Given the description of an element on the screen output the (x, y) to click on. 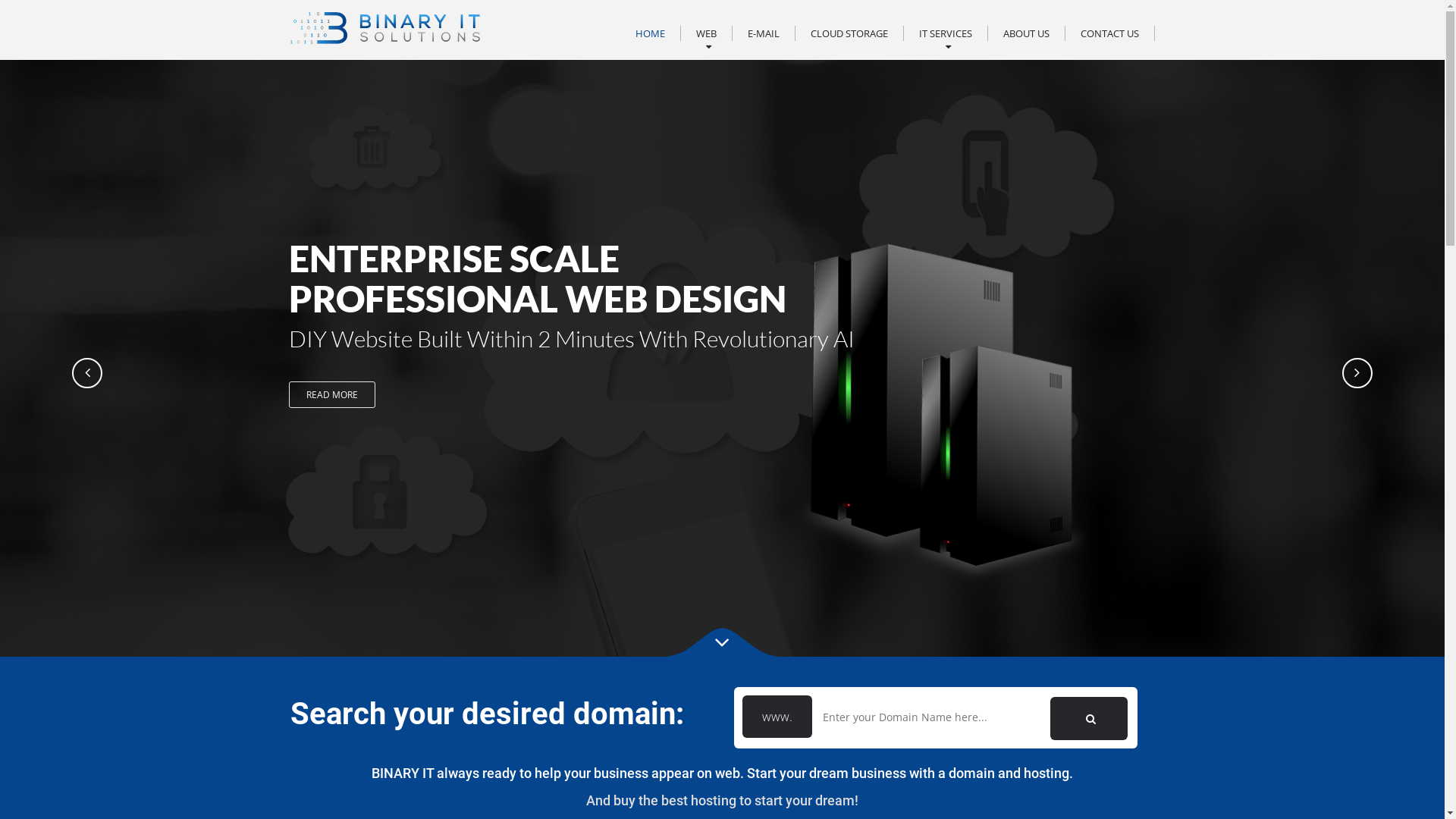
HOME Element type: text (650, 32)
IT SERVICES Element type: text (945, 32)
CONTACT US Element type: text (1108, 32)
CLOUD STORAGE Element type: text (848, 32)
And buy the best hosting to start your dream! Element type: text (722, 800)
WEB Element type: text (705, 32)
ABOUT US Element type: text (1025, 32)
E-MAIL Element type: text (763, 32)
READ MORE Element type: text (331, 394)
